Given the description of an element on the screen output the (x, y) to click on. 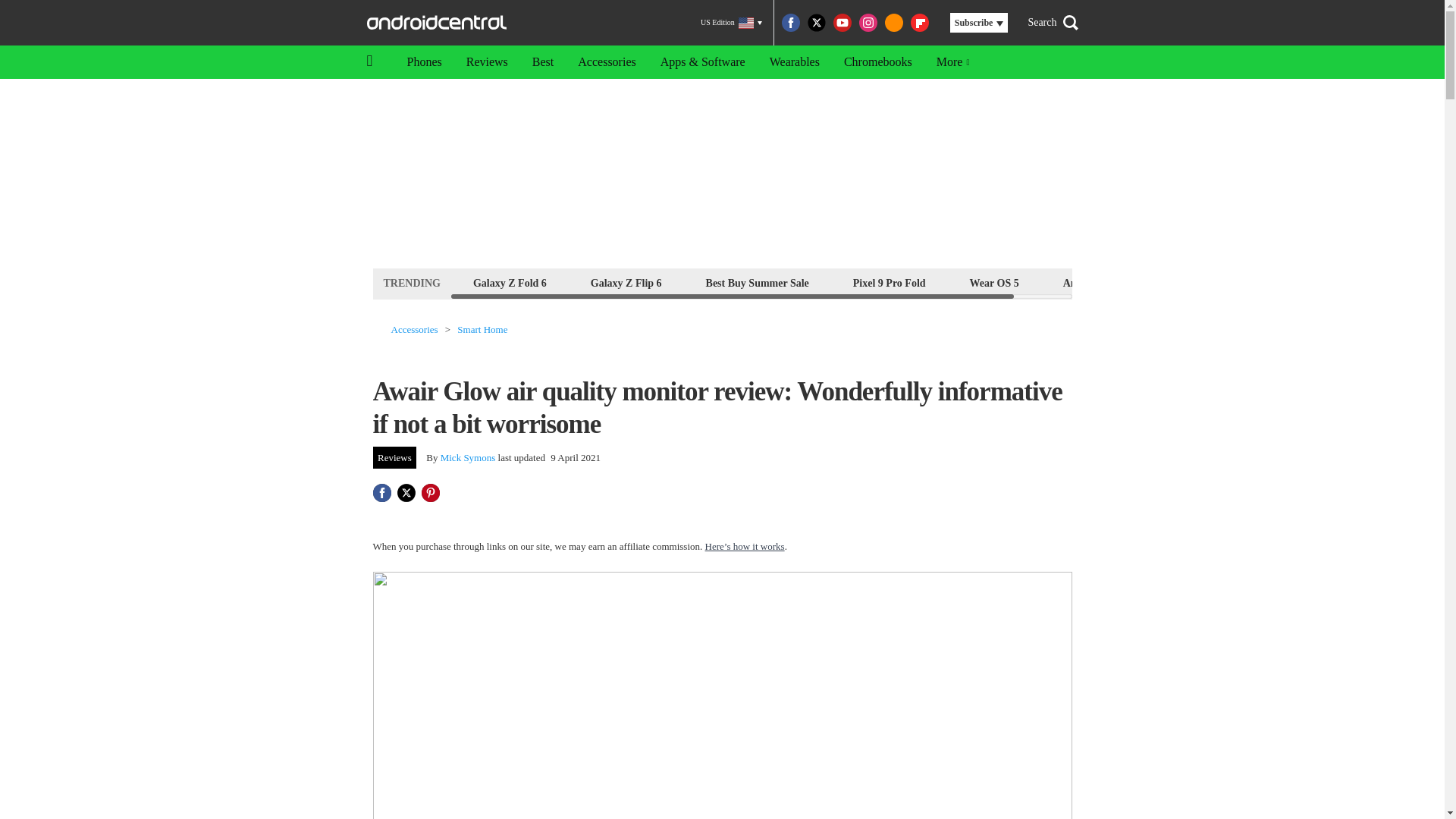
Wearables (794, 61)
Galaxy Z Flip 6 (625, 282)
Accessories (414, 328)
Android 15 (1088, 282)
Wear OS 5 (994, 282)
Smart Home (481, 328)
Phones (423, 61)
Reviews (486, 61)
Mick Symons (468, 457)
Pixel 9 Pro Fold (889, 282)
Accessories (606, 61)
Reviews (394, 457)
Chromebooks (877, 61)
US Edition (731, 22)
Galaxy Z Fold 6 (509, 282)
